Given the description of an element on the screen output the (x, y) to click on. 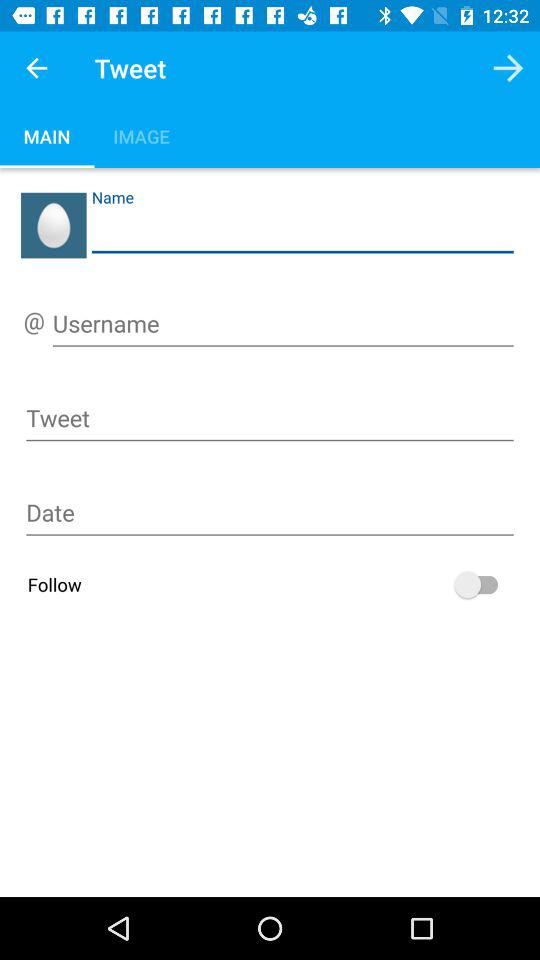
input date (270, 516)
